Given the description of an element on the screen output the (x, y) to click on. 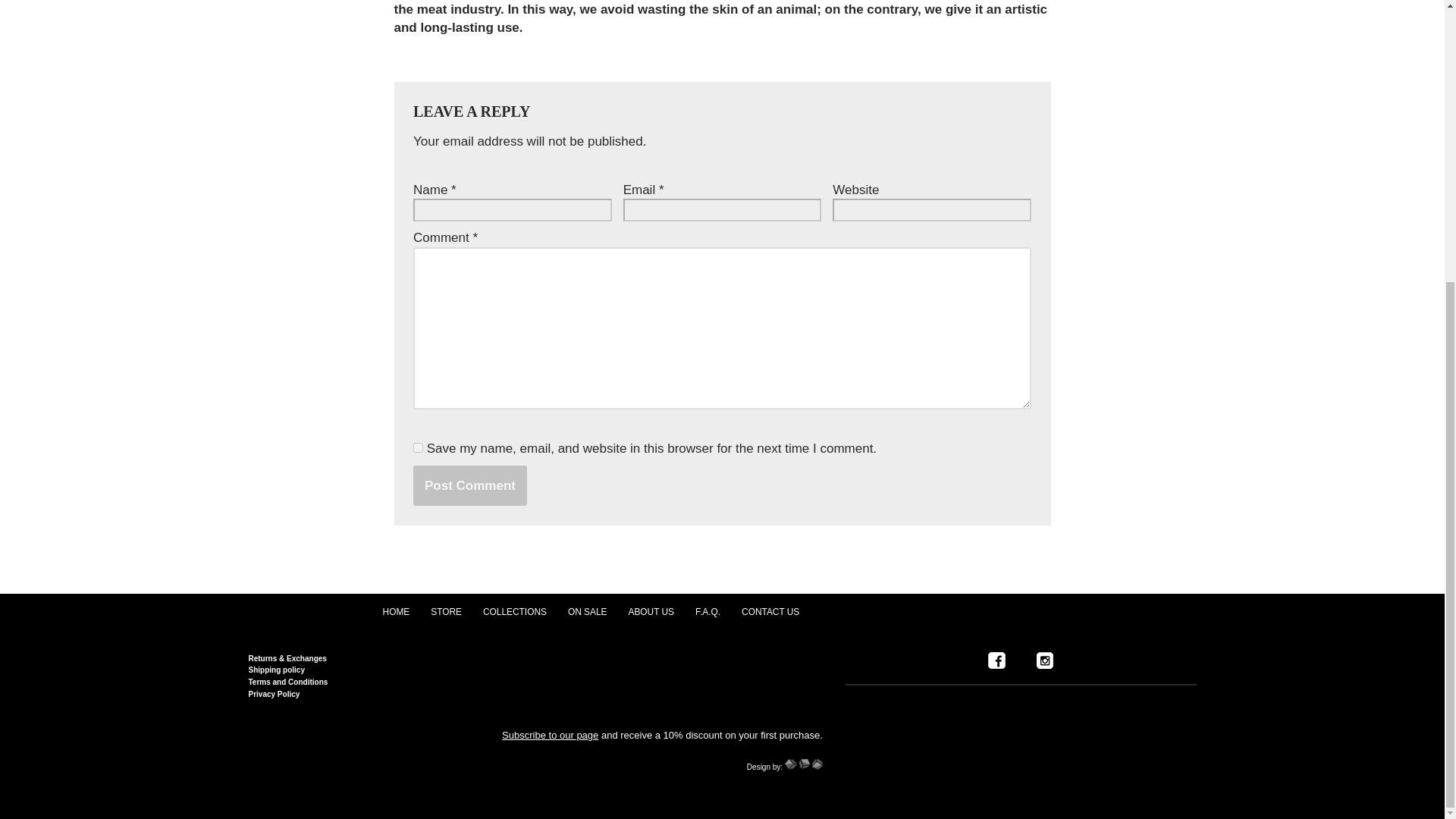
HOME (396, 611)
ABOUT US (650, 611)
Terms and Conditions (288, 680)
CONTACT US (770, 611)
STORE (445, 611)
COLLECTIONS (515, 611)
ON SALE (587, 611)
Privacy Policy (273, 692)
F.A.Q. (707, 611)
yes (418, 447)
Post Comment (470, 486)
Post Comment (470, 486)
Shipping policy (276, 667)
